Given the description of an element on the screen output the (x, y) to click on. 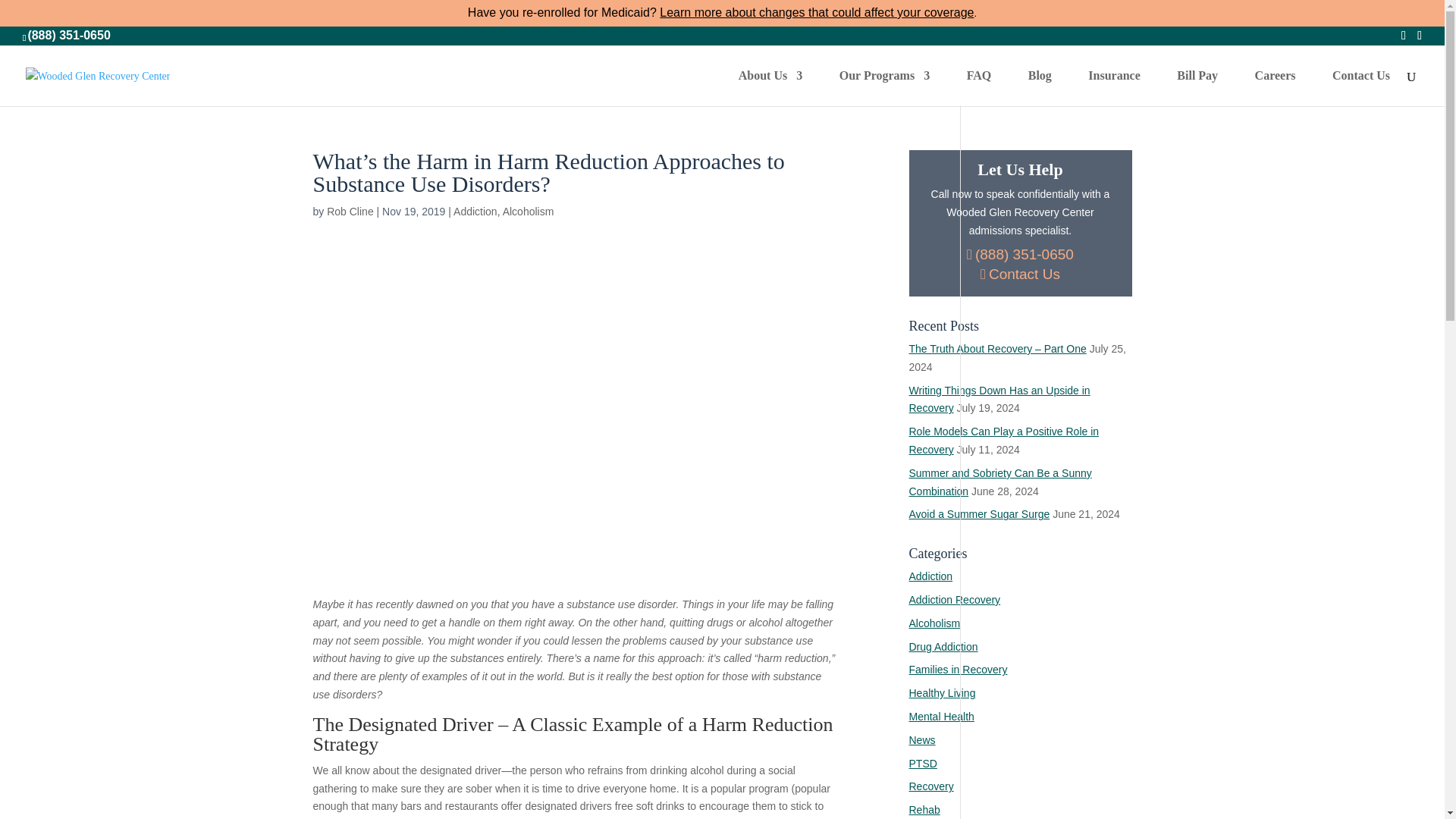
Contact Us (1361, 88)
Careers (1275, 88)
Our Programs (885, 88)
Posts by Rob Cline (349, 211)
Insurance (1113, 88)
Wooded Glen Recovery Center (98, 75)
Rob Cline (349, 211)
Bill Pay (1196, 88)
About Us (770, 88)
Addiction (474, 211)
Alcoholism (528, 211)
